Given the description of an element on the screen output the (x, y) to click on. 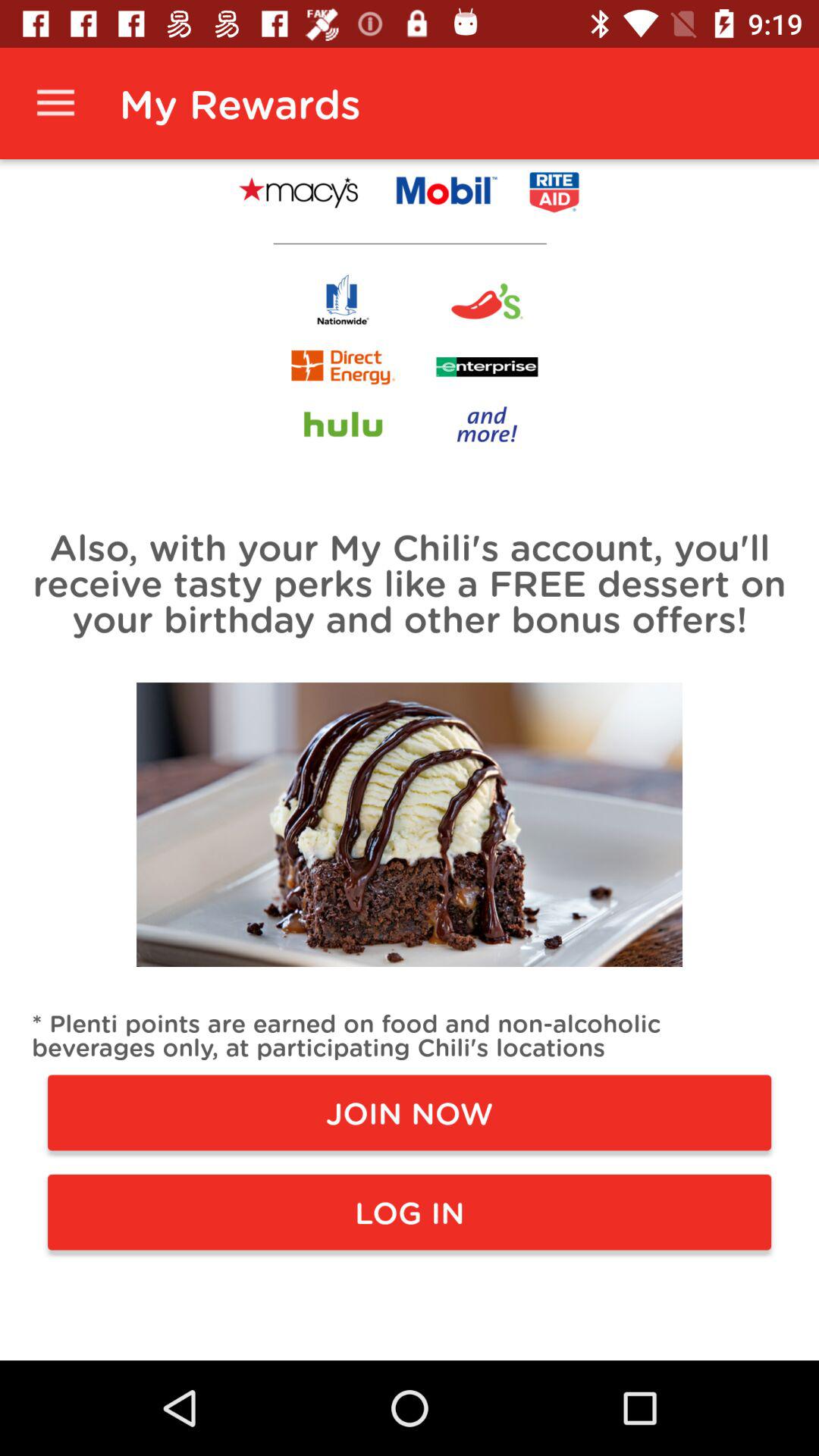
jump until the log in item (409, 1212)
